Given the description of an element on the screen output the (x, y) to click on. 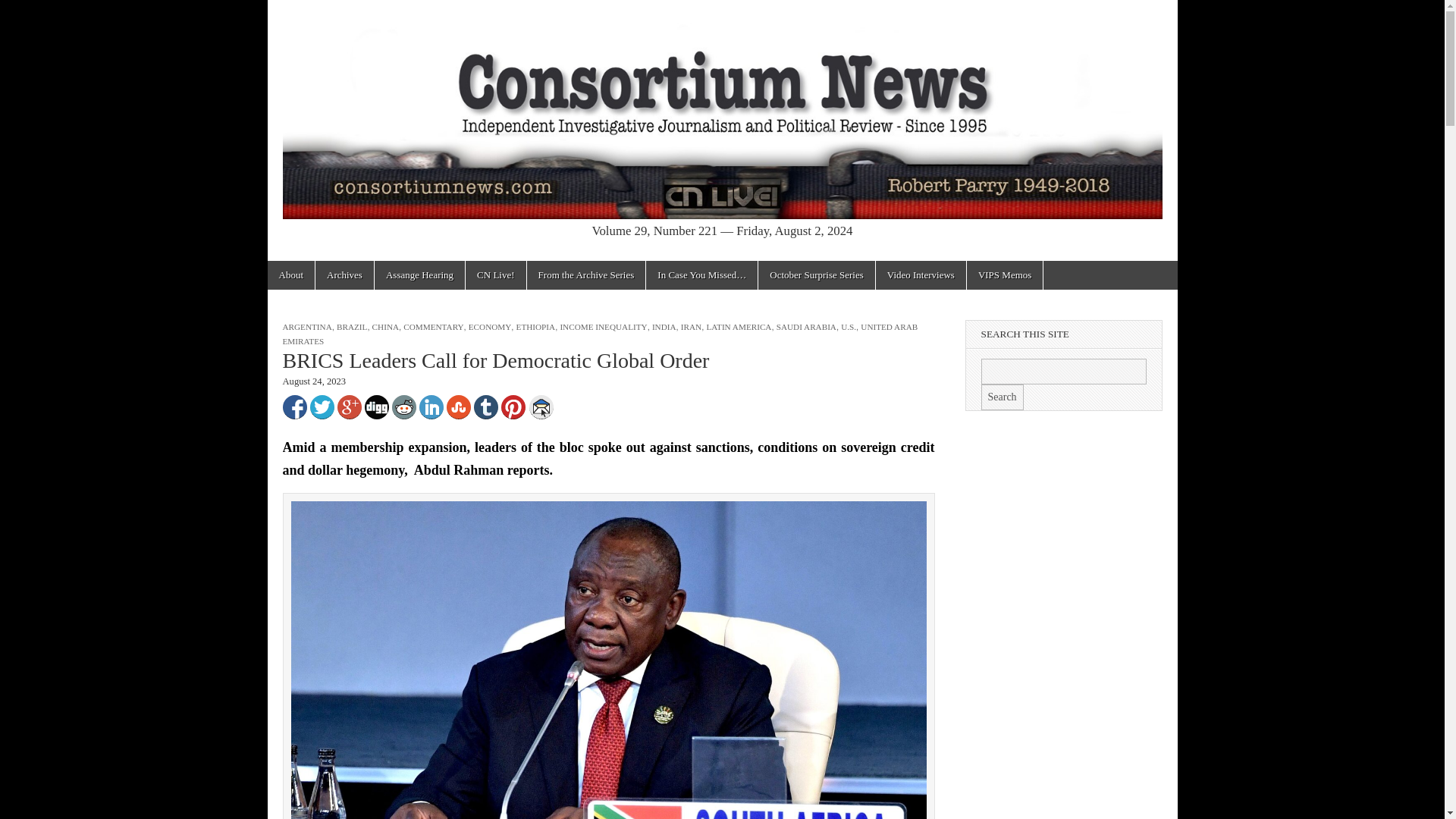
Video Interviews (921, 275)
COMMENTARY (433, 326)
Share to Reddit (402, 406)
BRAZIL (351, 326)
Share to StumbleUpon (457, 406)
Archives (344, 275)
Share to Digg (376, 406)
INDIA (664, 326)
About (290, 275)
ARGENTINA (306, 326)
IRAN (691, 326)
CHINA (385, 326)
Share to Pinterest (512, 406)
ETHIOPIA (536, 326)
